Given the description of an element on the screen output the (x, y) to click on. 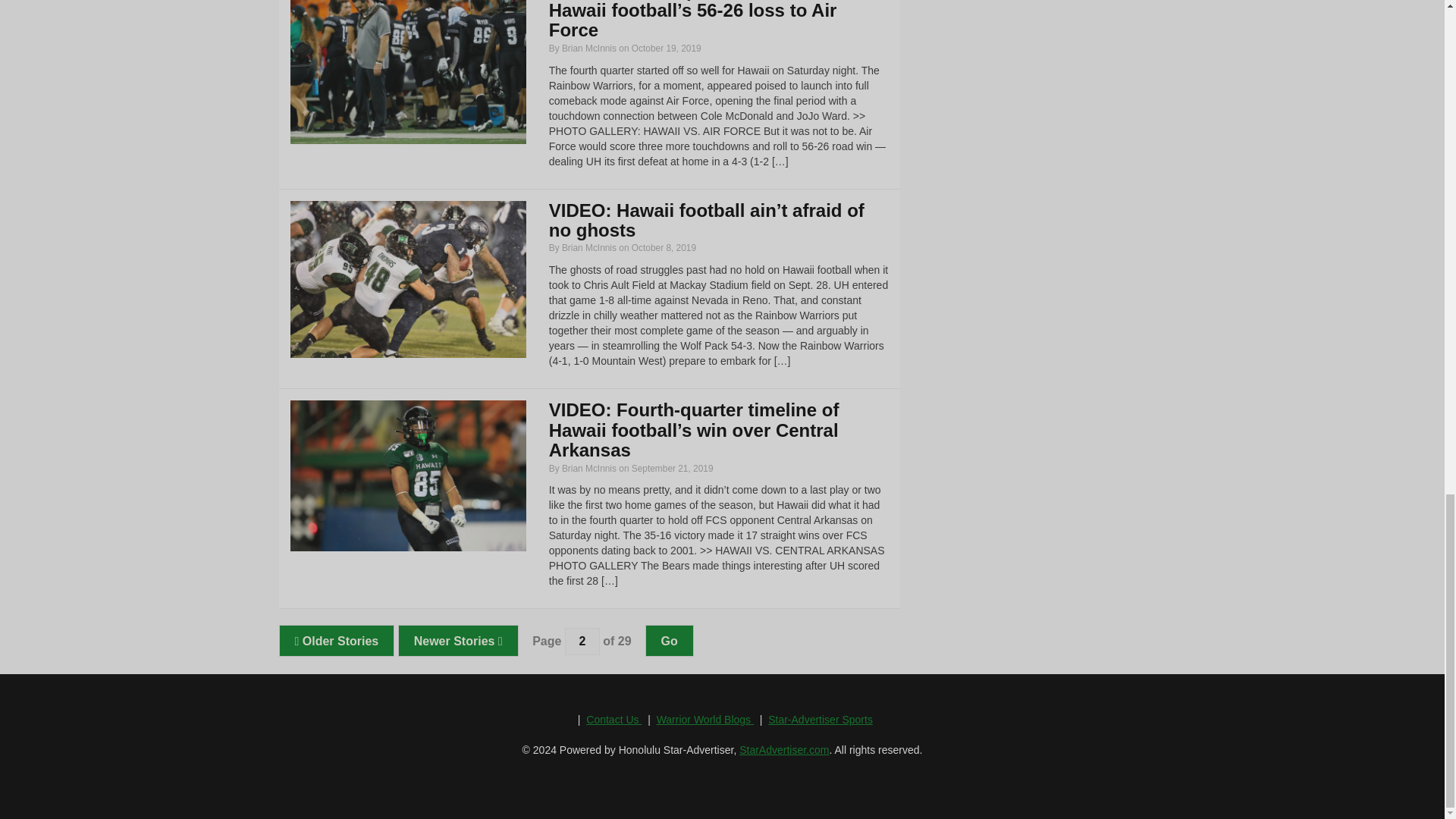
2 (581, 641)
